Given the description of an element on the screen output the (x, y) to click on. 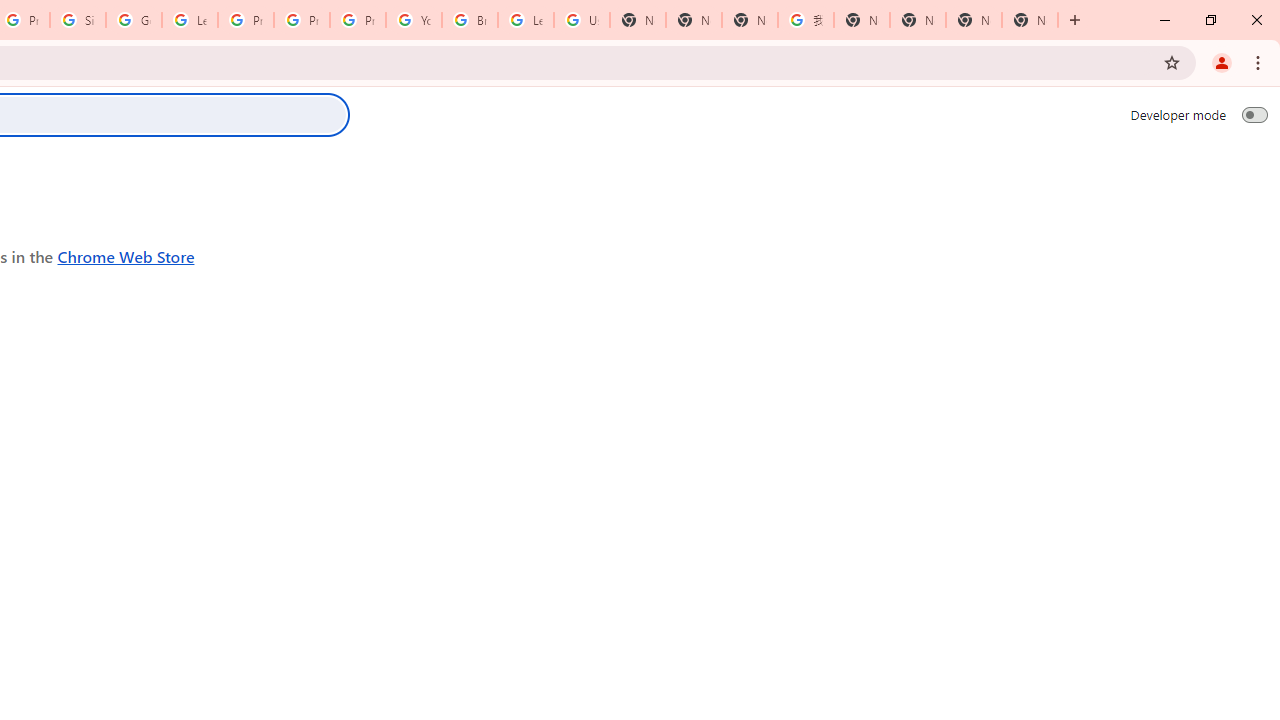
Developer mode (1254, 114)
Privacy Help Center - Policies Help (301, 20)
Sign in - Google Accounts (77, 20)
Chrome Web Store (125, 256)
Privacy Help Center - Policies Help (245, 20)
